Given the description of an element on the screen output the (x, y) to click on. 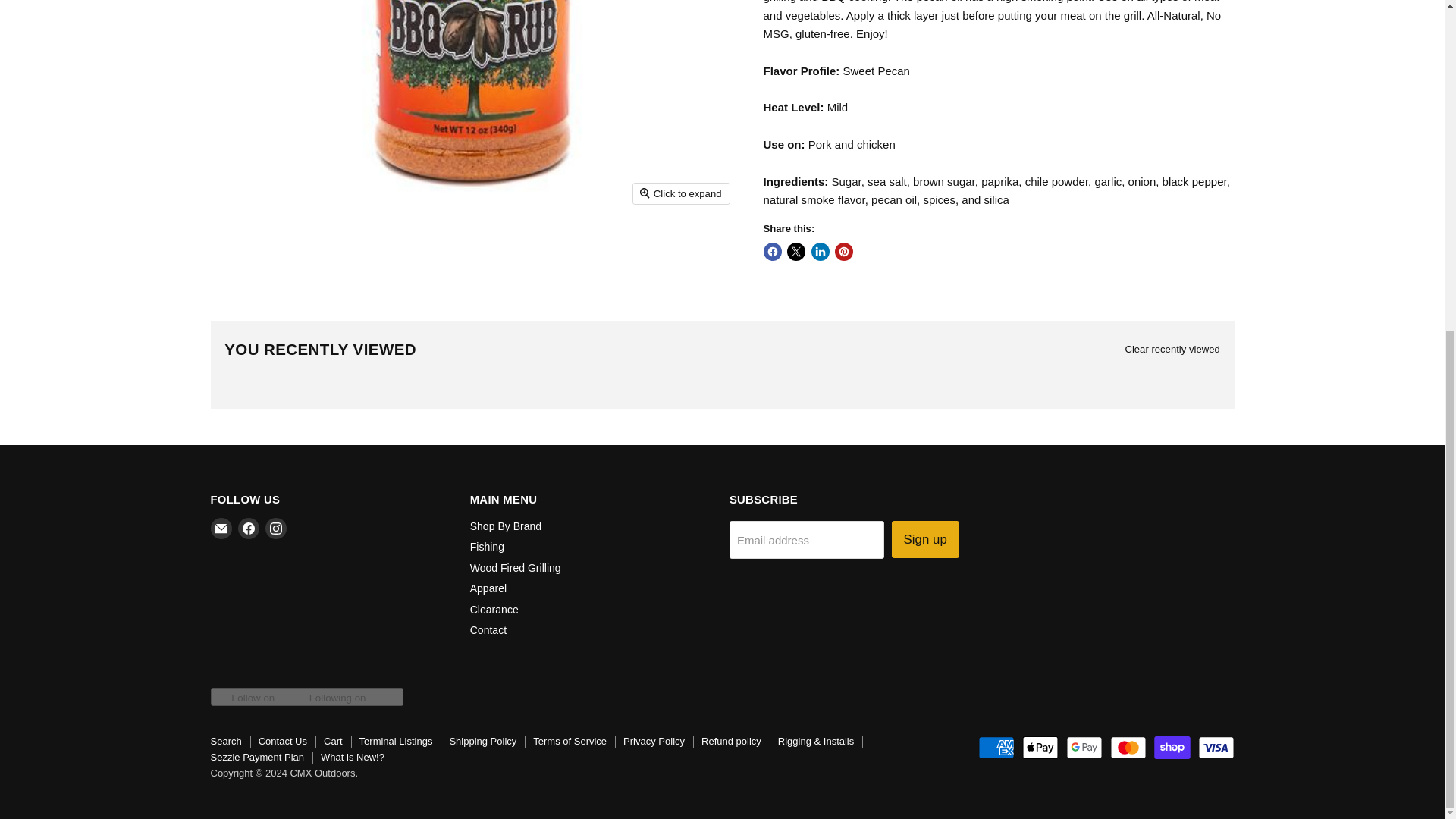
Facebook (248, 527)
Email (221, 527)
Instagram (275, 527)
